Given the description of an element on the screen output the (x, y) to click on. 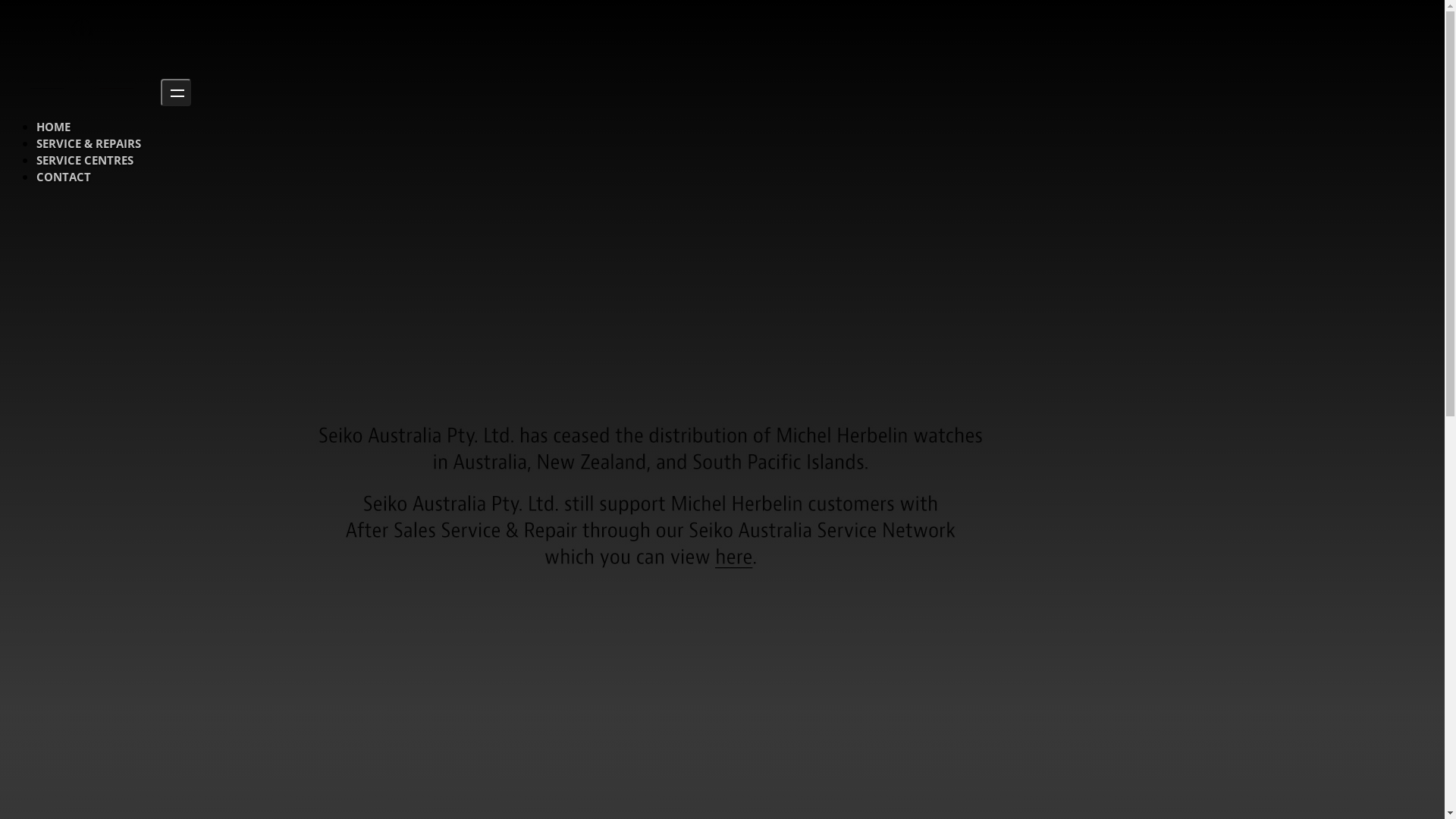
HOME Element type: text (53, 126)
CONTACT Element type: text (63, 176)
SERVICE & REPAIRS Element type: text (88, 142)
SERVICE CENTRES Element type: text (84, 159)
